Given the description of an element on the screen output the (x, y) to click on. 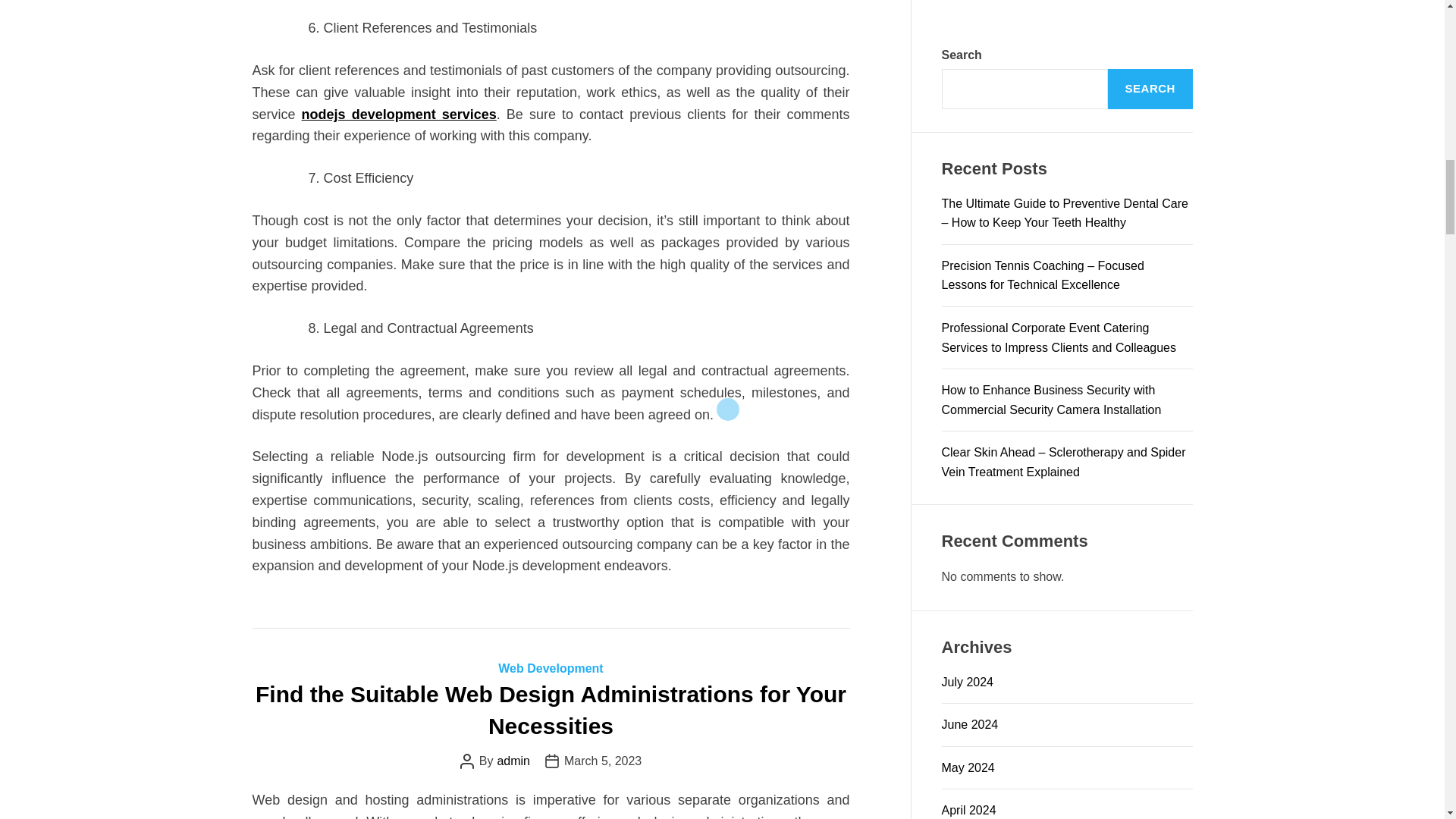
admin (512, 761)
nodejs development services (398, 114)
Web Development (549, 667)
